Given the description of an element on the screen output the (x, y) to click on. 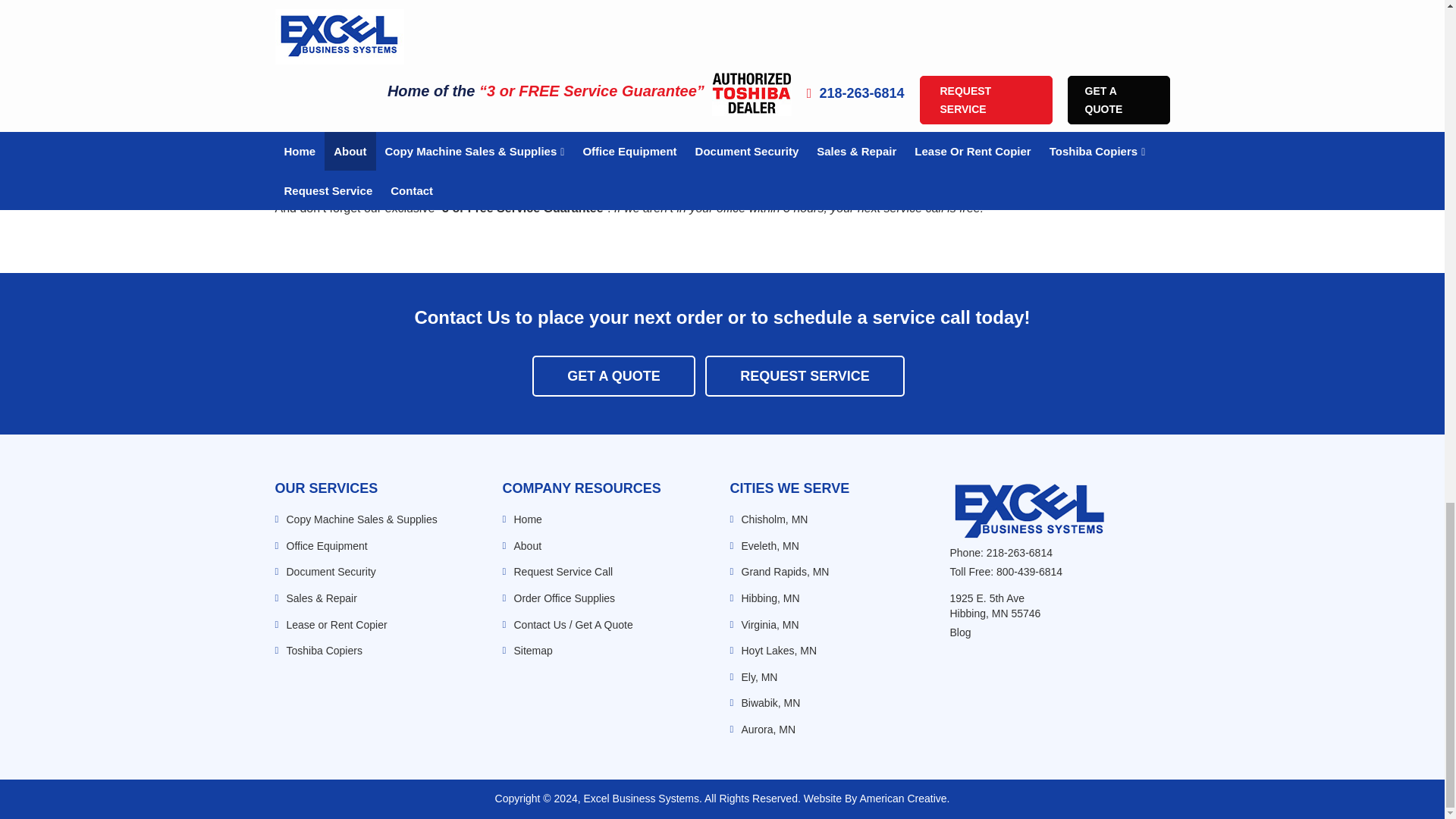
Eveleth, MN (770, 545)
Chisholm, MN (774, 519)
Document Security (330, 571)
REQUEST SERVICE (804, 375)
GET A QUOTE (613, 375)
About (527, 545)
Toshiba Copiers (324, 650)
Lease or Rent Copier (336, 624)
Home (527, 519)
Hibbing, MN (770, 598)
